Given the description of an element on the screen output the (x, y) to click on. 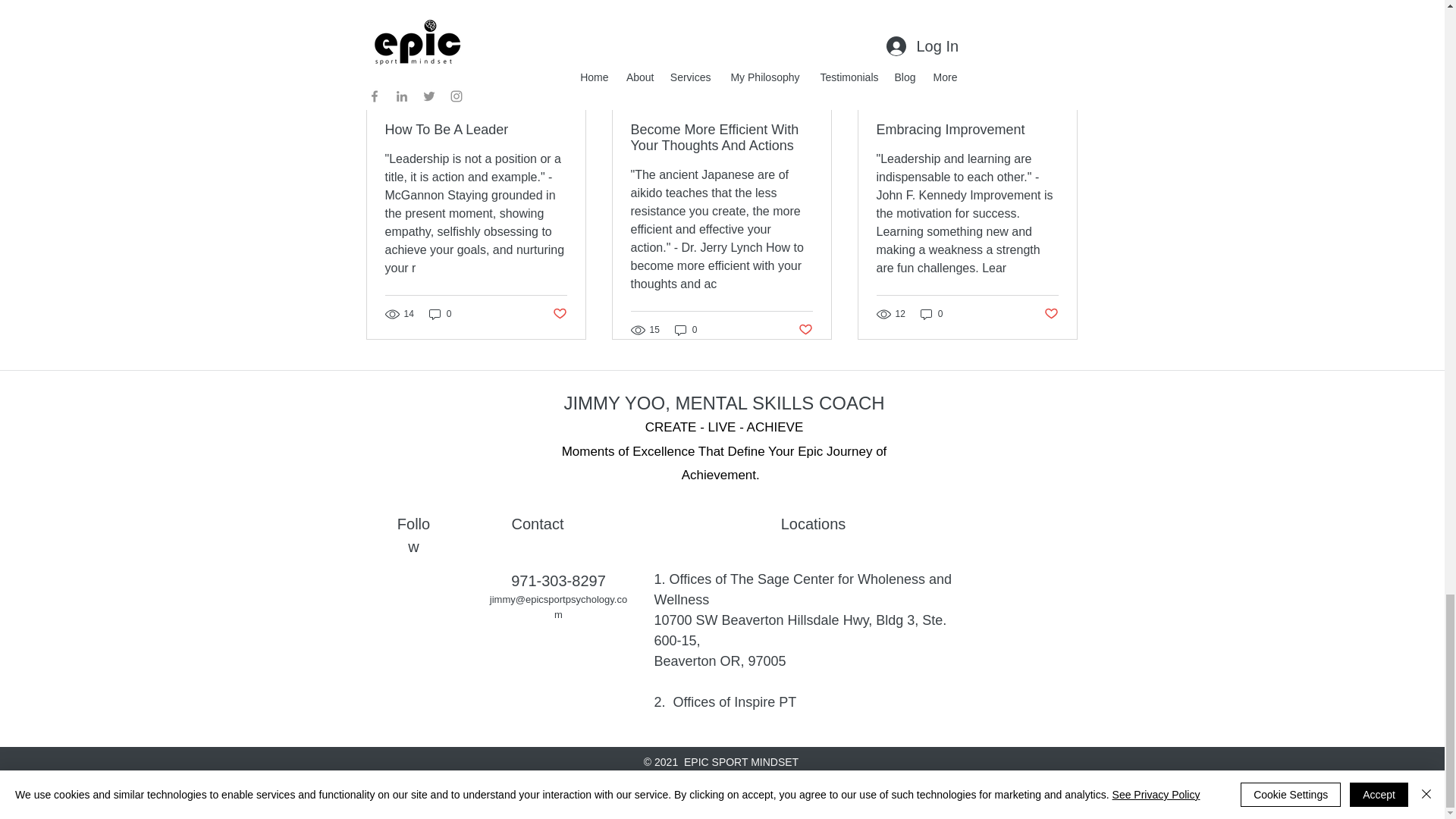
Become More Efficient With Your Thoughts And Actions (721, 137)
How To Be A Leader (476, 130)
Post not marked as liked (995, 1)
See All (1061, 76)
Post not marked as liked (558, 313)
0 (440, 314)
